Given the description of an element on the screen output the (x, y) to click on. 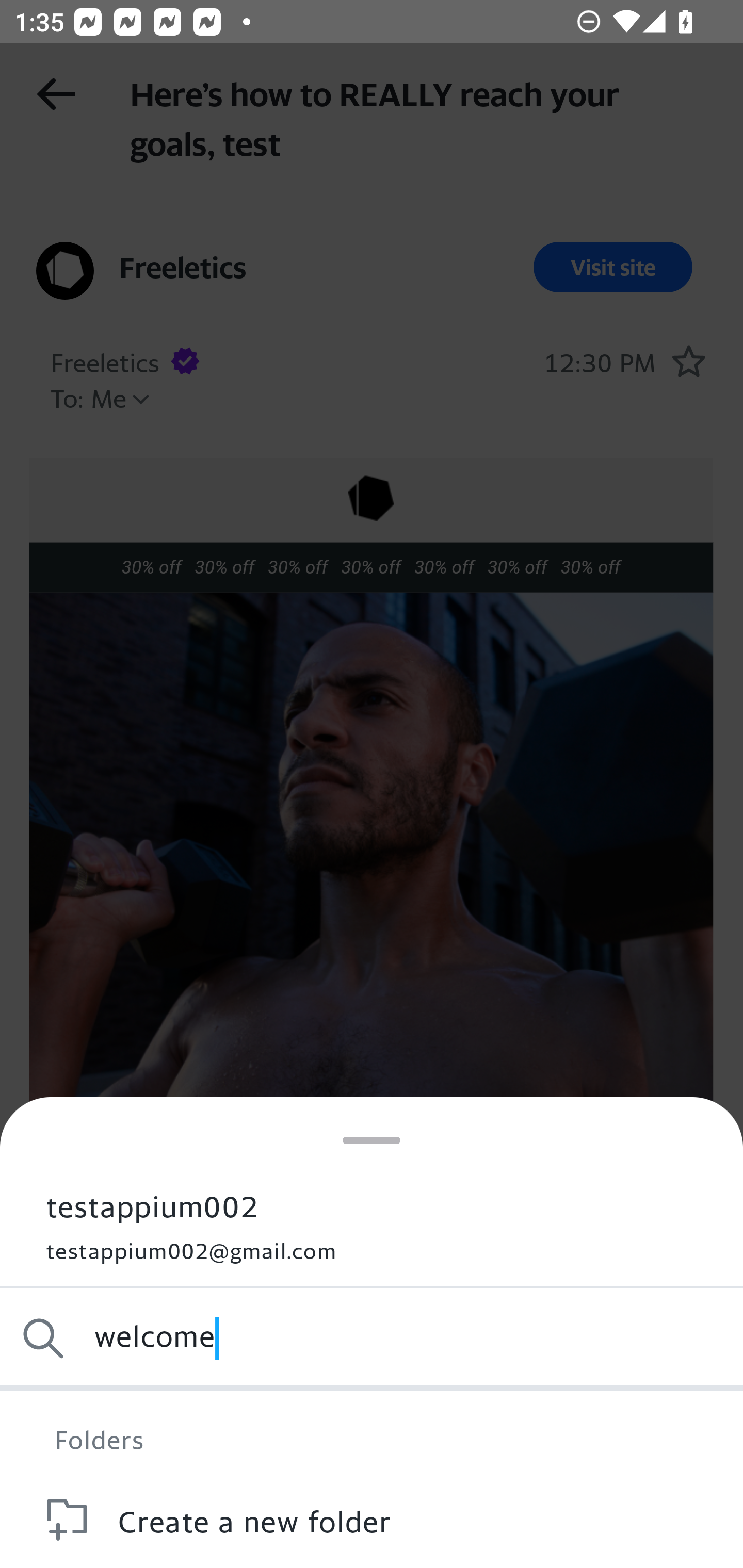
welcome (371, 1338)
Create a new folder (371, 1519)
